Given the description of an element on the screen output the (x, y) to click on. 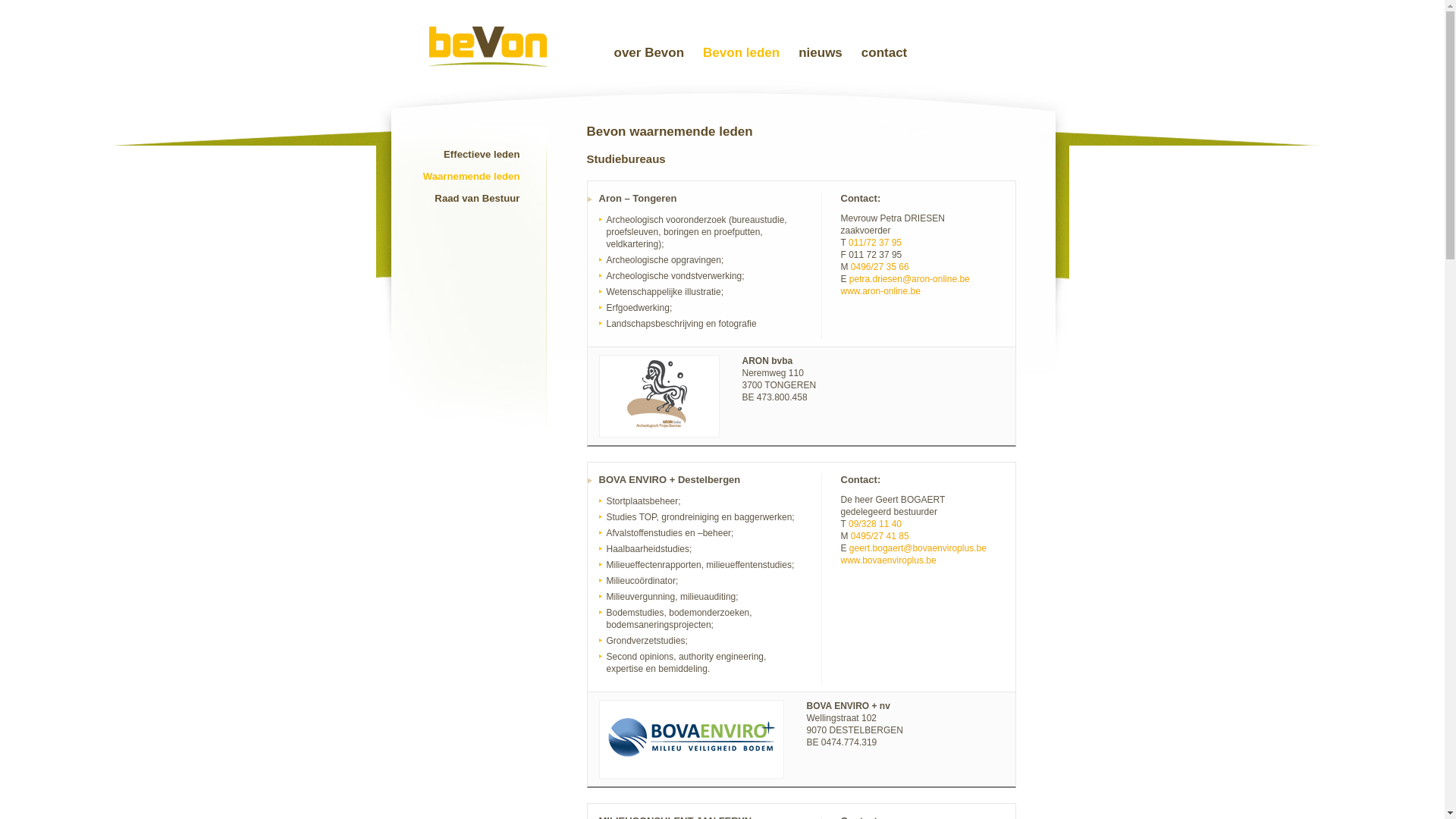
Bevon leden Element type: text (740, 52)
Effectieve leden Element type: text (481, 154)
Raad van Bestuur Element type: text (476, 197)
www.aron-online.be Element type: text (879, 290)
petra.driesen@aron-online.be Element type: text (909, 278)
011/72 37 95 Element type: text (874, 242)
geert.bogaert@bovaenviroplus.be Element type: text (917, 547)
www.bovaenviroplus.be Element type: text (887, 560)
contact Element type: text (883, 52)
0496/27 35 66 Element type: text (879, 266)
0495/27 41 85 Element type: text (879, 535)
over Bevon Element type: text (649, 52)
nieuws Element type: text (820, 52)
09/328 11 40 Element type: text (874, 523)
Waarnemende leden Element type: text (471, 176)
